Given the description of an element on the screen output the (x, y) to click on. 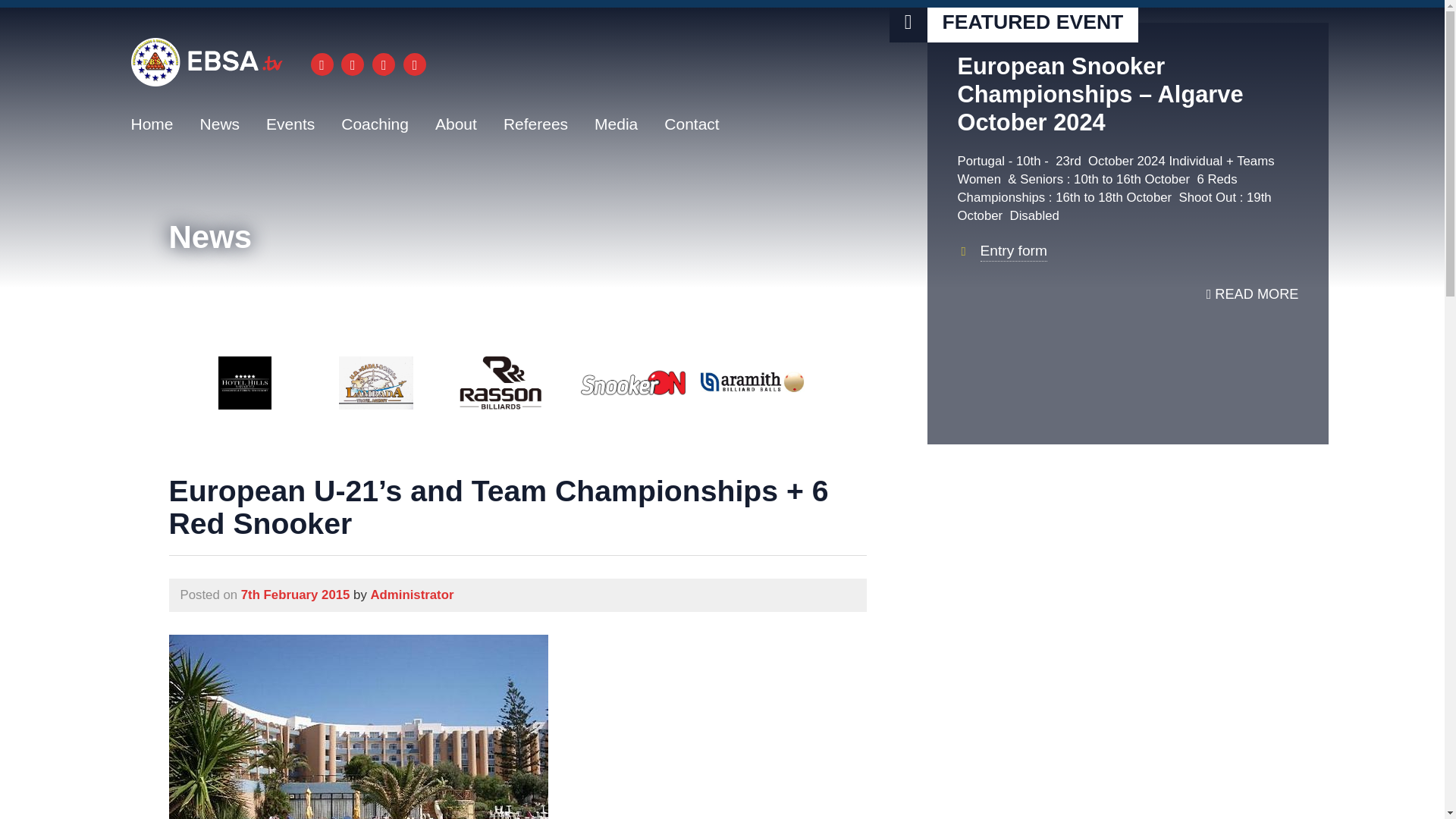
View all posts by Administrator (410, 594)
12:27 pm (295, 594)
